Given the description of an element on the screen output the (x, y) to click on. 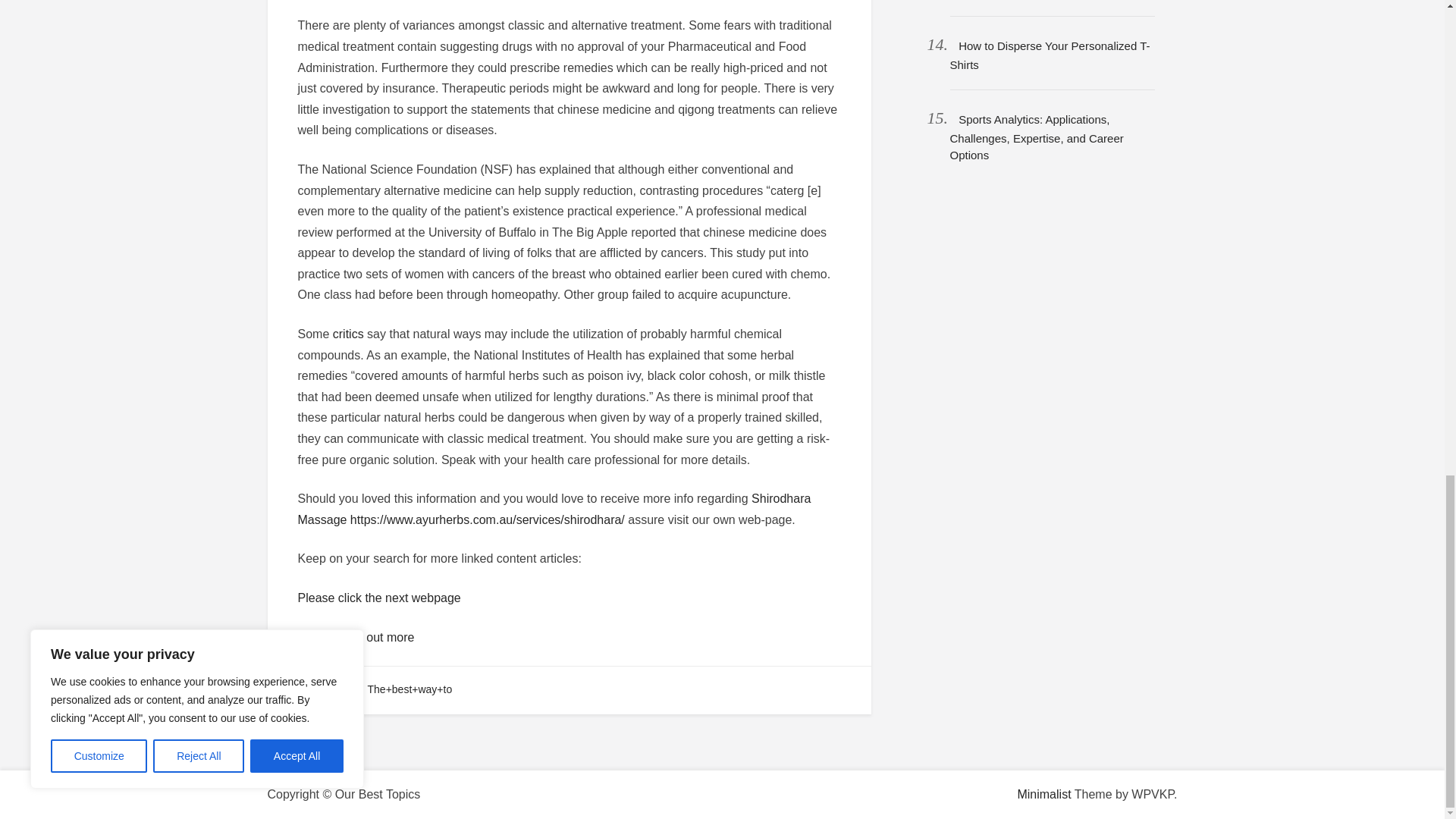
Please click the next webpage (378, 597)
you can find out more (355, 636)
critics (348, 333)
General (324, 689)
